Given the description of an element on the screen output the (x, y) to click on. 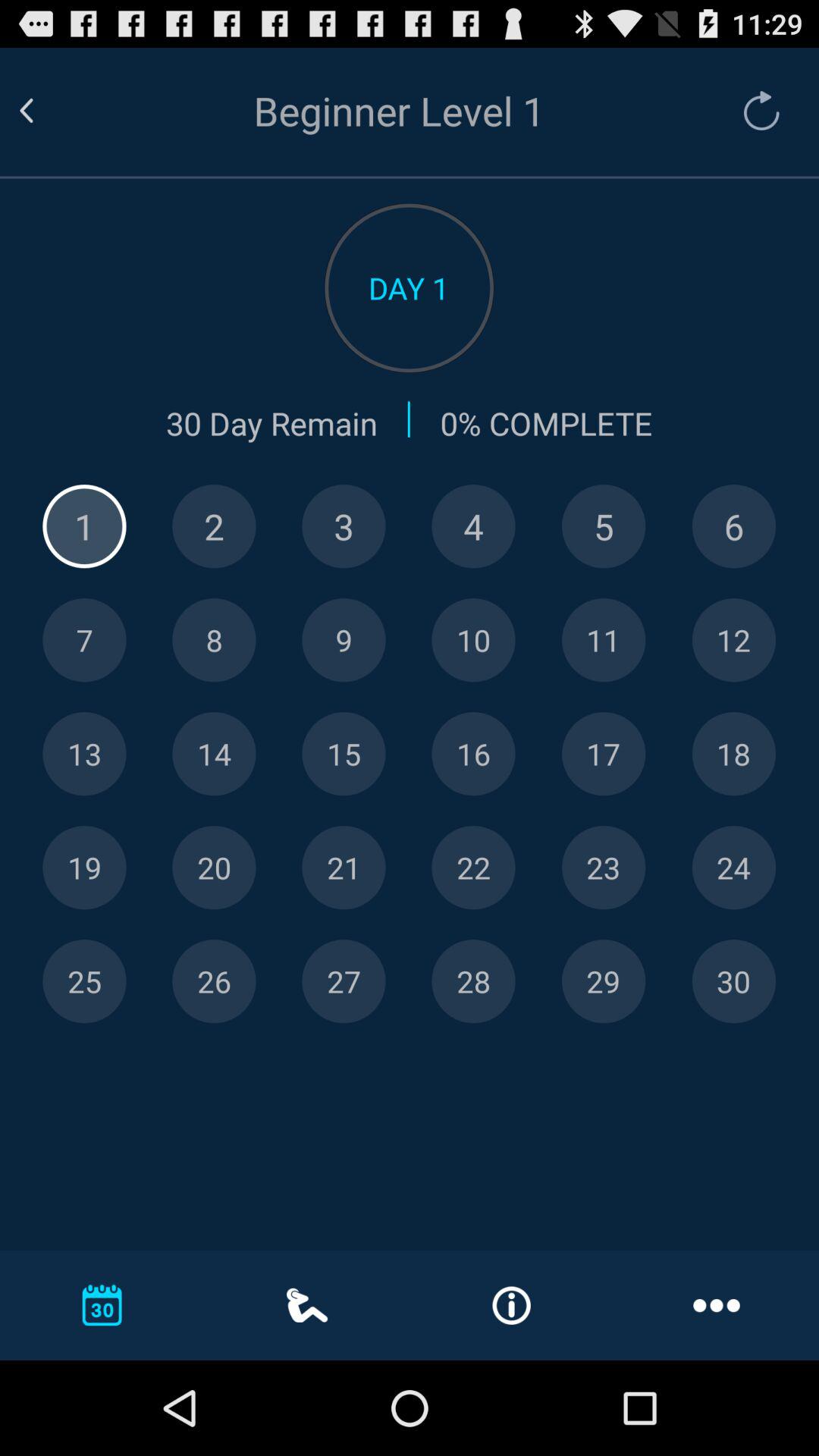
day 2 progress (213, 526)
